Given the description of an element on the screen output the (x, y) to click on. 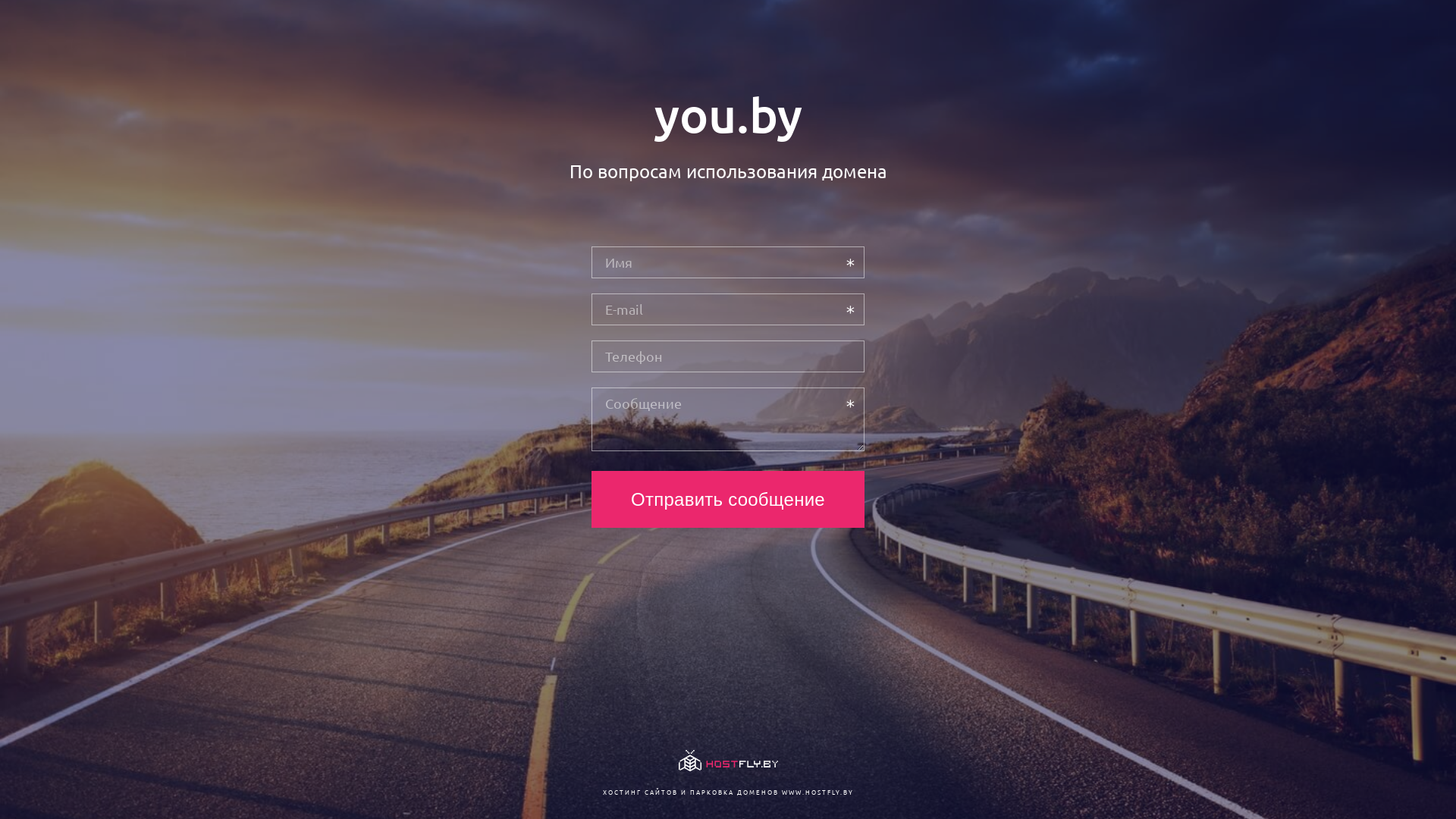
WWW.HOSTFLY.BY Element type: text (817, 791)
